Given the description of an element on the screen output the (x, y) to click on. 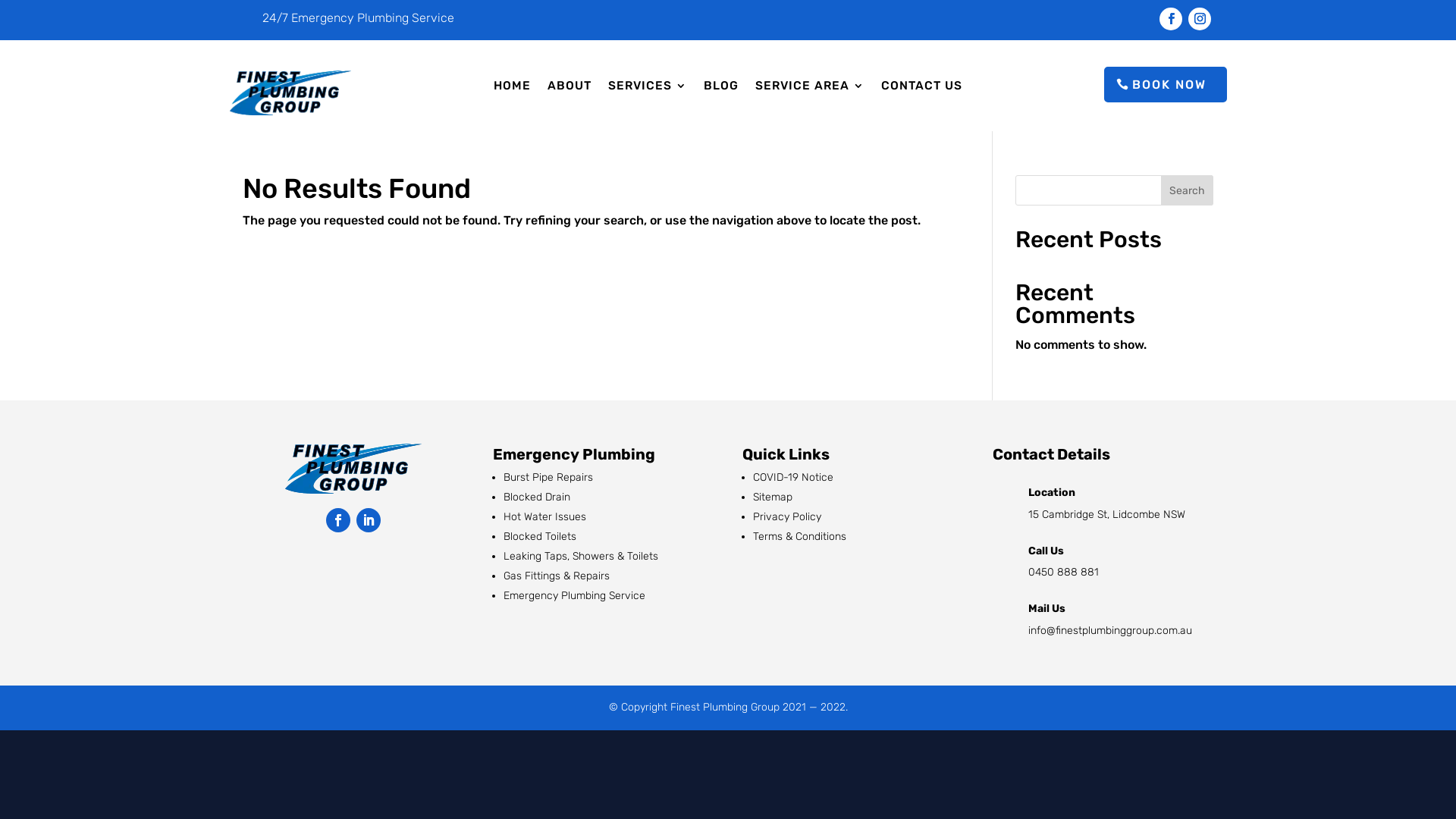
Blocked Toilets Element type: text (539, 536)
Blocked Drain Element type: text (536, 496)
Follow on LinkedIn Element type: hover (368, 520)
15 Cambridge St, Lidcombe NSW Element type: text (1106, 514)
BOOK NOW Element type: text (1165, 84)
COVID-19 Notice Element type: text (793, 476)
Finest plumbing group Element type: hover (290, 92)
Burst Pipe Repairs Element type: text (548, 476)
0450 888 881 Element type: text (1063, 571)
Terms & Conditions  Element type: text (801, 536)
CONTACT US Element type: text (921, 88)
Follow on Facebook Element type: hover (1170, 18)
HOME Element type: text (511, 88)
Leaking Taps, Showers & Toilets Element type: text (580, 555)
BLOG Element type: text (720, 88)
ABOUT Element type: text (569, 88)
info@finestplumbinggroup.com.au Element type: text (1110, 630)
Finest plumbing group Element type: hover (353, 468)
Follow on Facebook Element type: hover (338, 520)
Gas Fittings & Repairs Element type: text (556, 575)
Privacy Policy Element type: text (787, 516)
Search Element type: text (1187, 190)
Emergency Plumbing Service Element type: text (574, 595)
Hot Water Issues Element type: text (544, 516)
SERVICES Element type: text (647, 88)
SERVICE AREA Element type: text (809, 88)
Follow on Instagram Element type: hover (1199, 18)
